Given the description of an element on the screen output the (x, y) to click on. 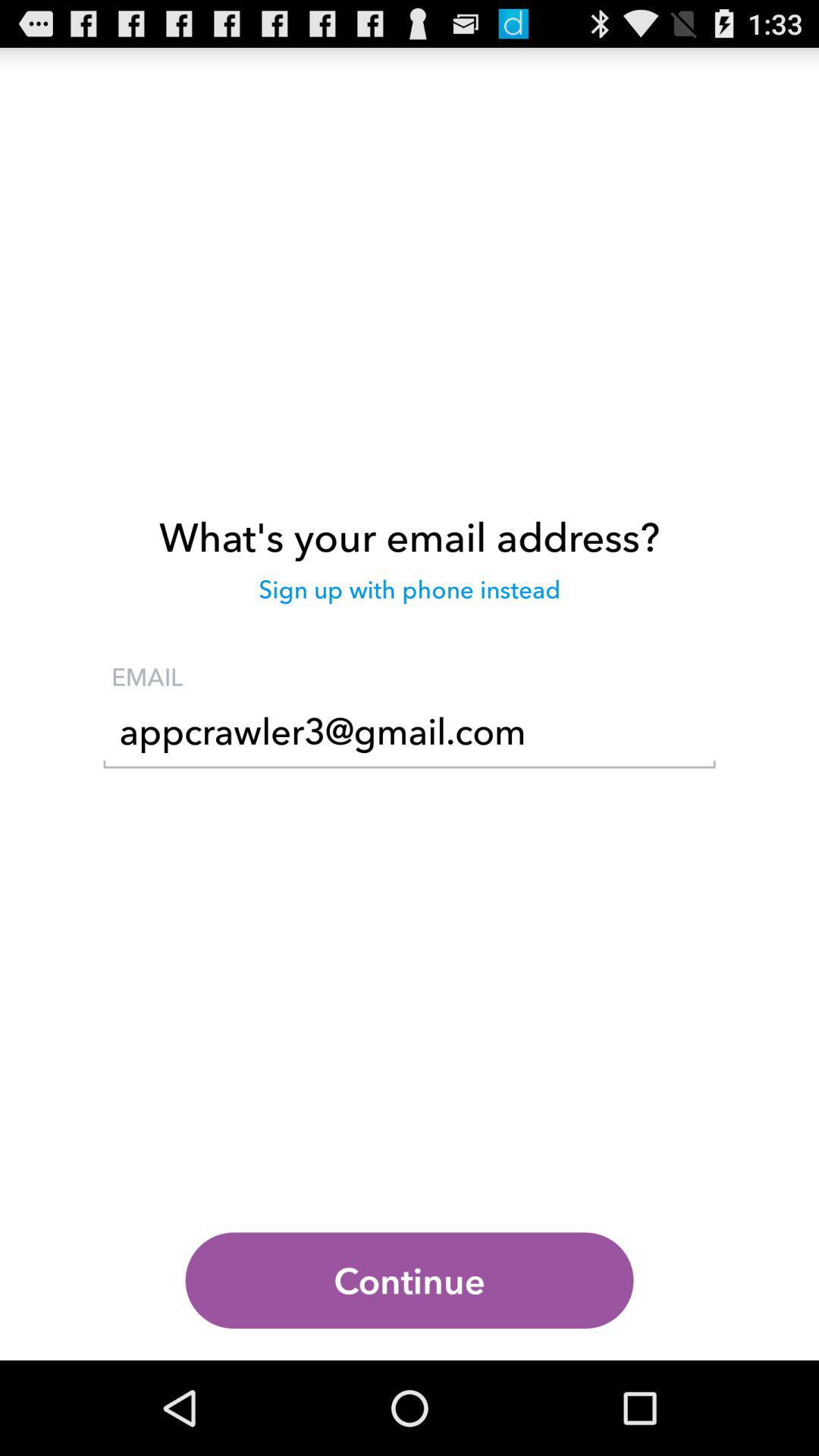
flip until appcrawler3@gmail.com item (409, 736)
